Given the description of an element on the screen output the (x, y) to click on. 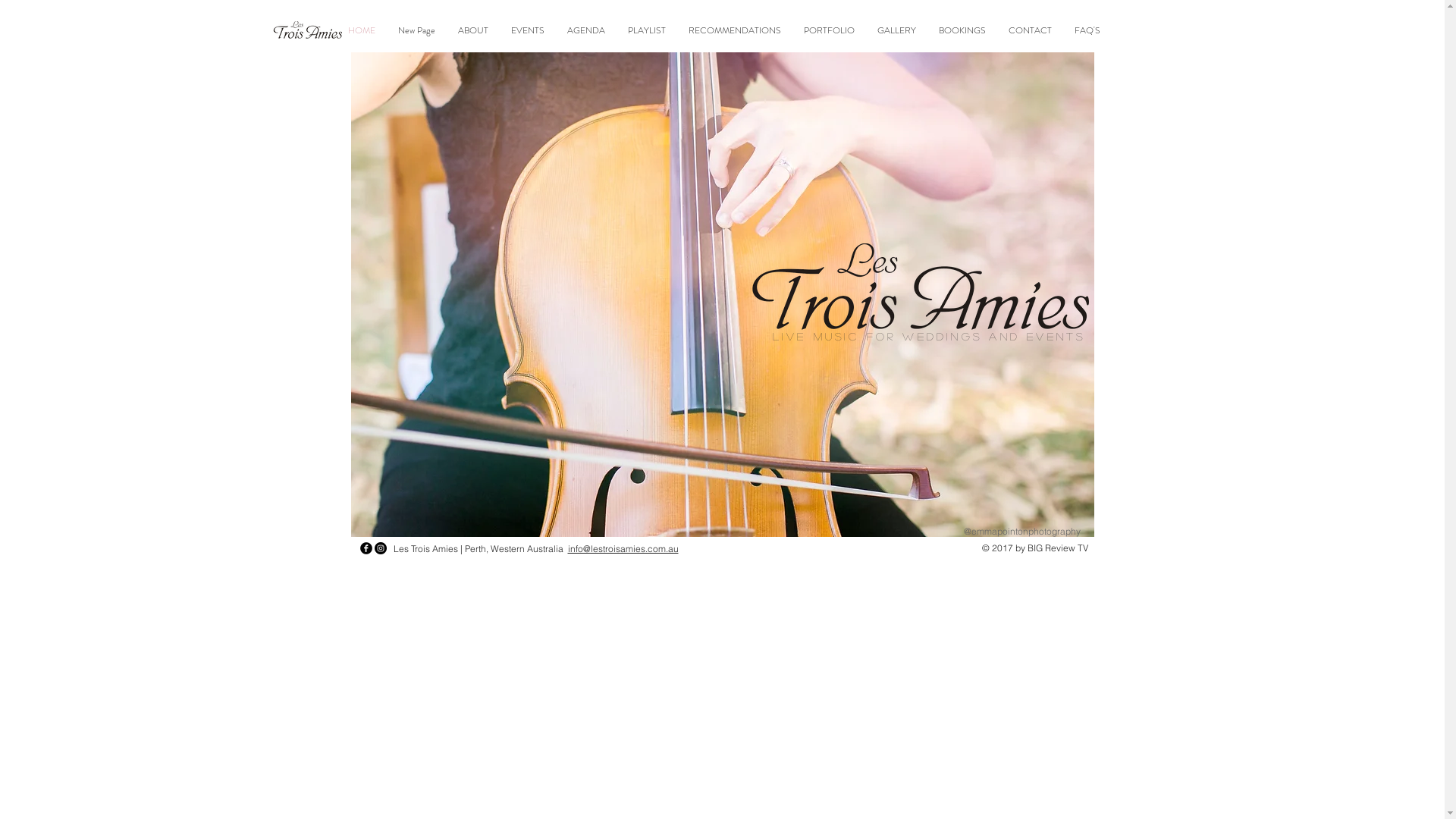
AGENDA Element type: text (585, 30)
GALLERY Element type: text (896, 30)
CONTACT Element type: text (1030, 30)
EVENTS Element type: text (527, 30)
Live music for weddings and events Element type: text (928, 335)
ABOUT Element type: text (472, 30)
BOOKINGS Element type: text (962, 30)
New Page Element type: text (416, 30)
HOME Element type: text (361, 30)
info@lestroisamies.com.au Element type: text (622, 548)
FAQ'S Element type: text (1087, 30)
PORTFOLIO Element type: text (829, 30)
RECOMMENDATIONS Element type: text (734, 30)
PLAYLIST Element type: text (646, 30)
